Given the description of an element on the screen output the (x, y) to click on. 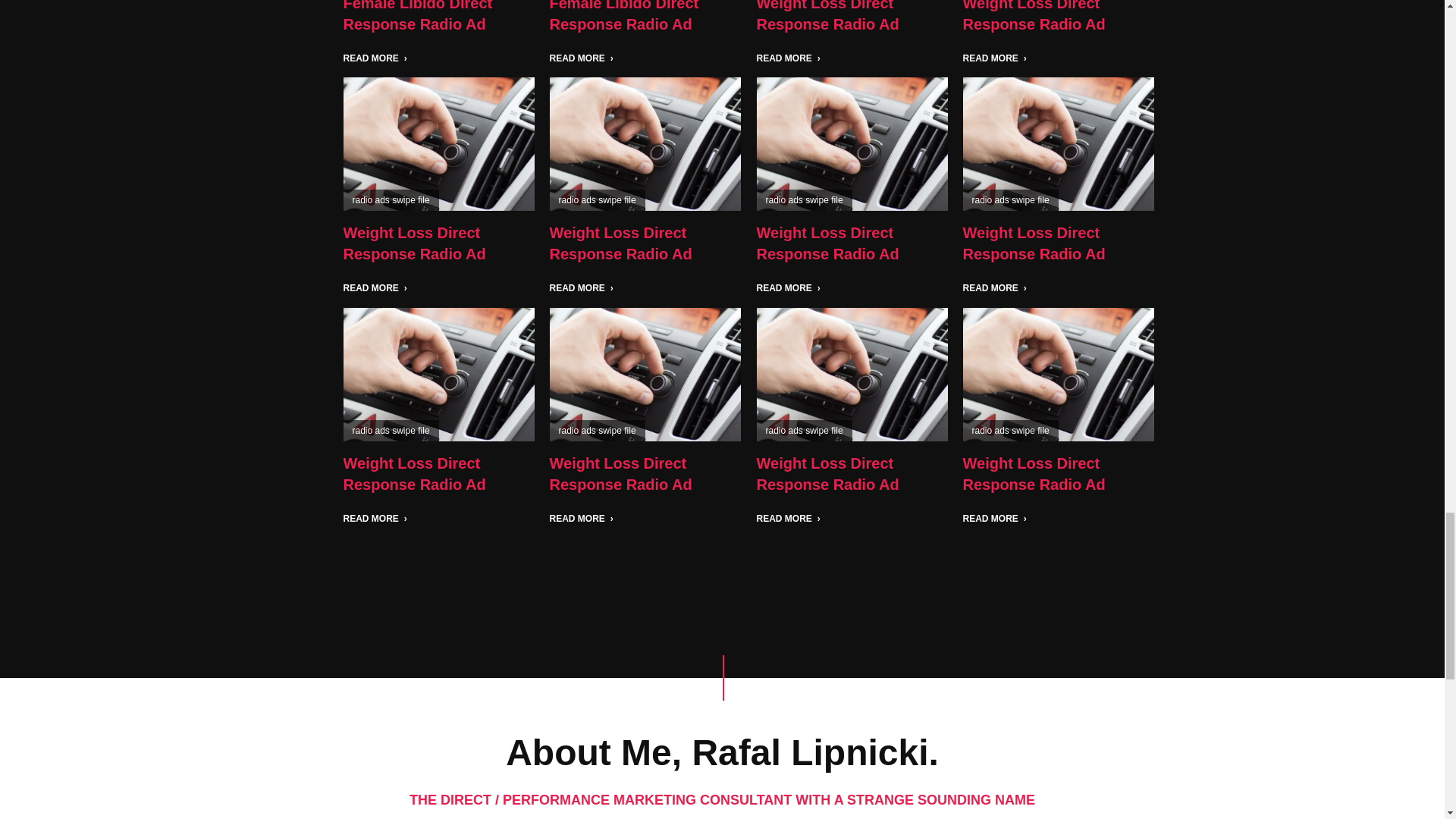
Weight Loss Direct Response Radio Ad (828, 16)
Weight Loss Direct Response Radio Ad (1033, 16)
Female Libido Direct Response Radio Ad (623, 16)
Female Libido Direct Response Radio Ad (417, 16)
